Given the description of an element on the screen output the (x, y) to click on. 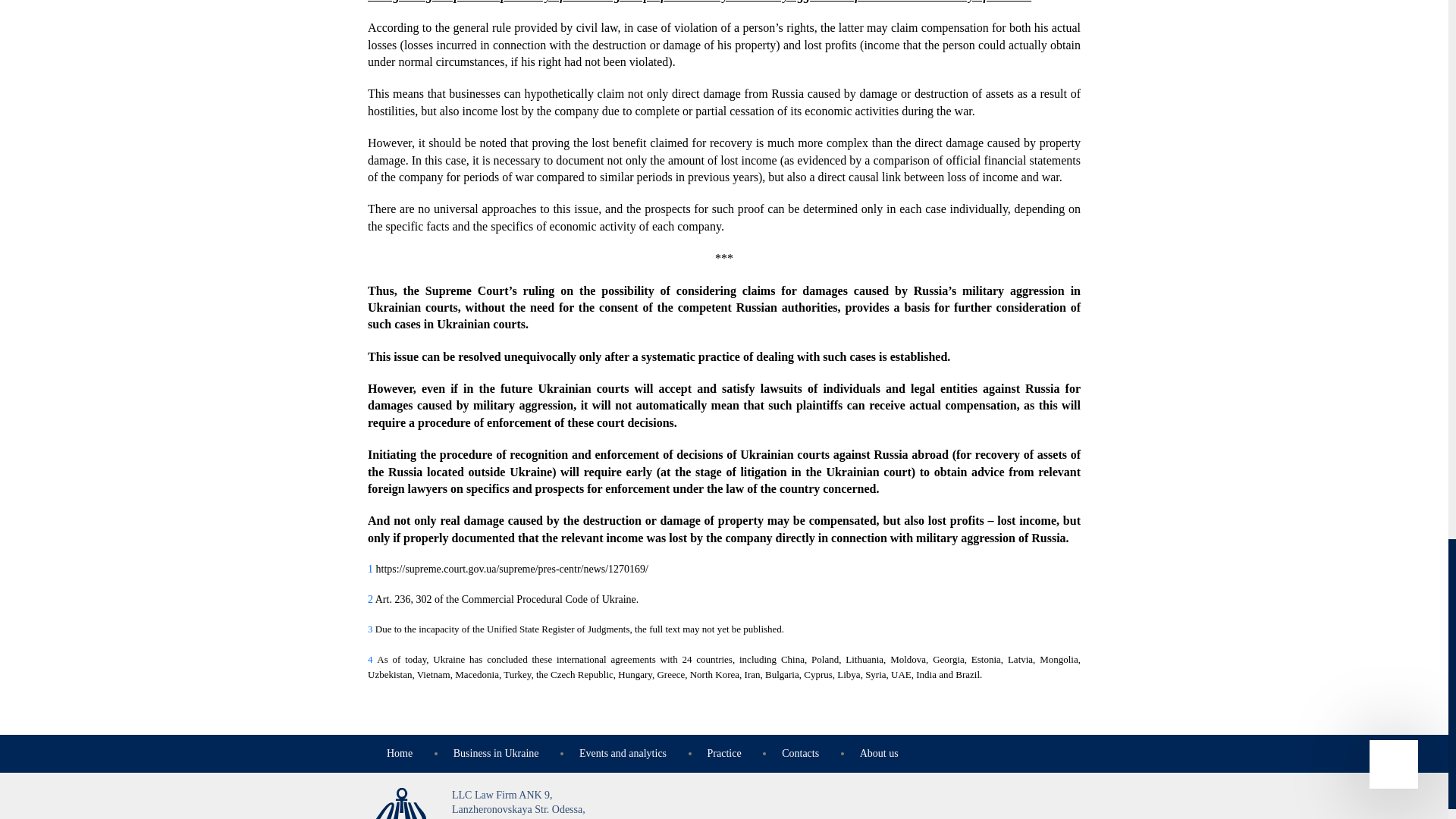
Practice (724, 753)
Home (399, 753)
About us (879, 753)
Events and analytics (622, 753)
Contacts (799, 753)
Business in Ukraine (495, 753)
